Given the description of an element on the screen output the (x, y) to click on. 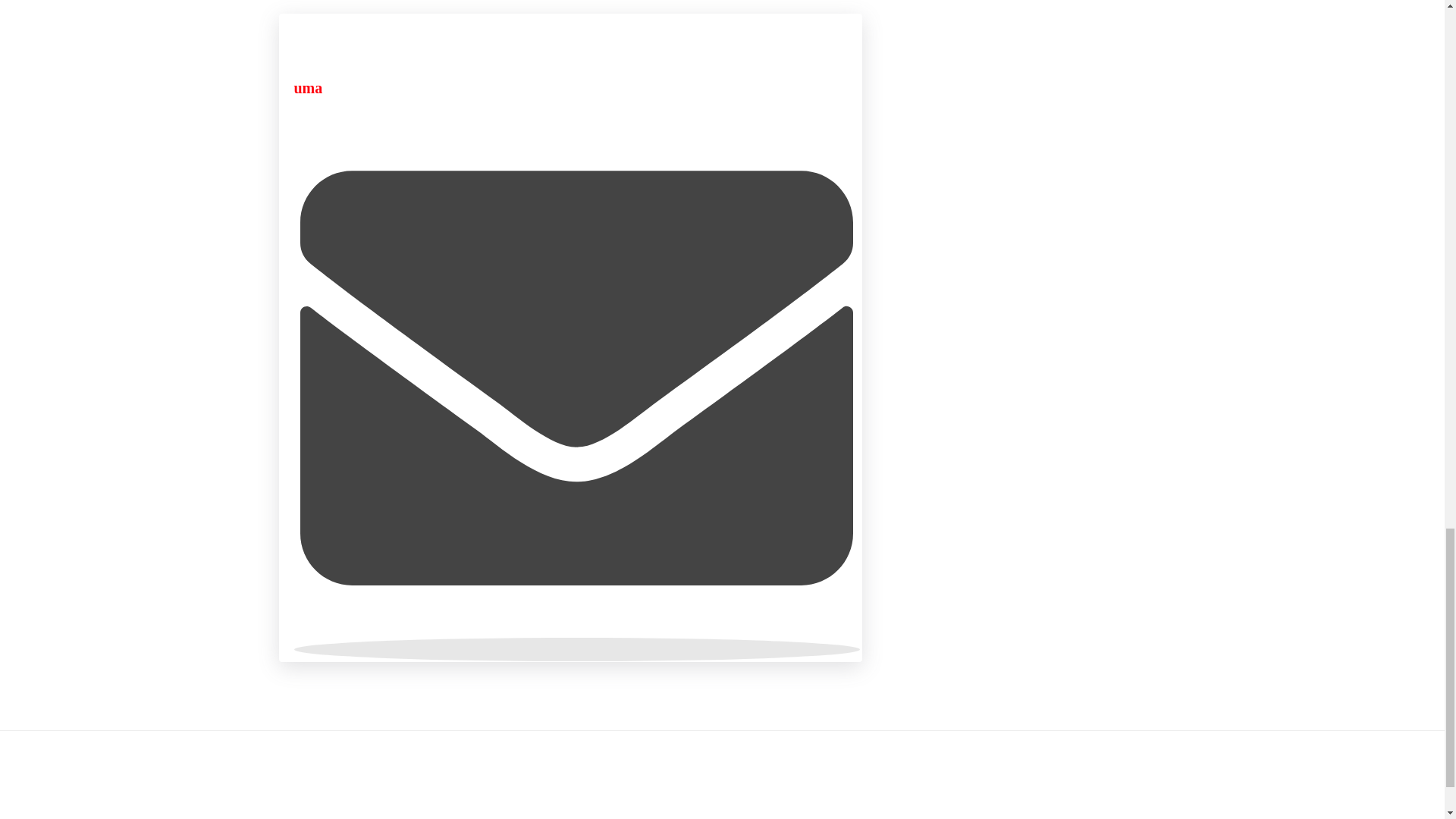
User email (577, 649)
uma (308, 87)
